Given the description of an element on the screen output the (x, y) to click on. 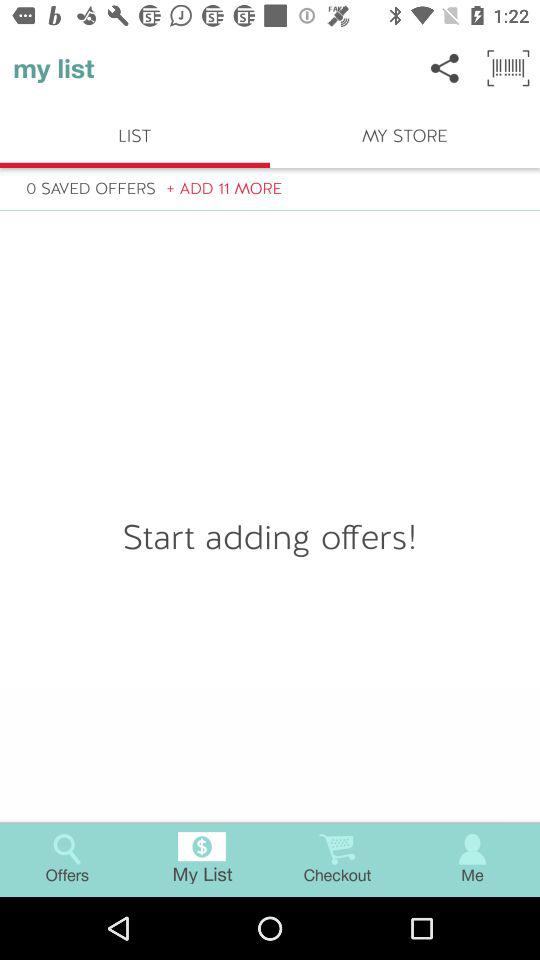
tap icon to the right of my list item (444, 67)
